Given the description of an element on the screen output the (x, y) to click on. 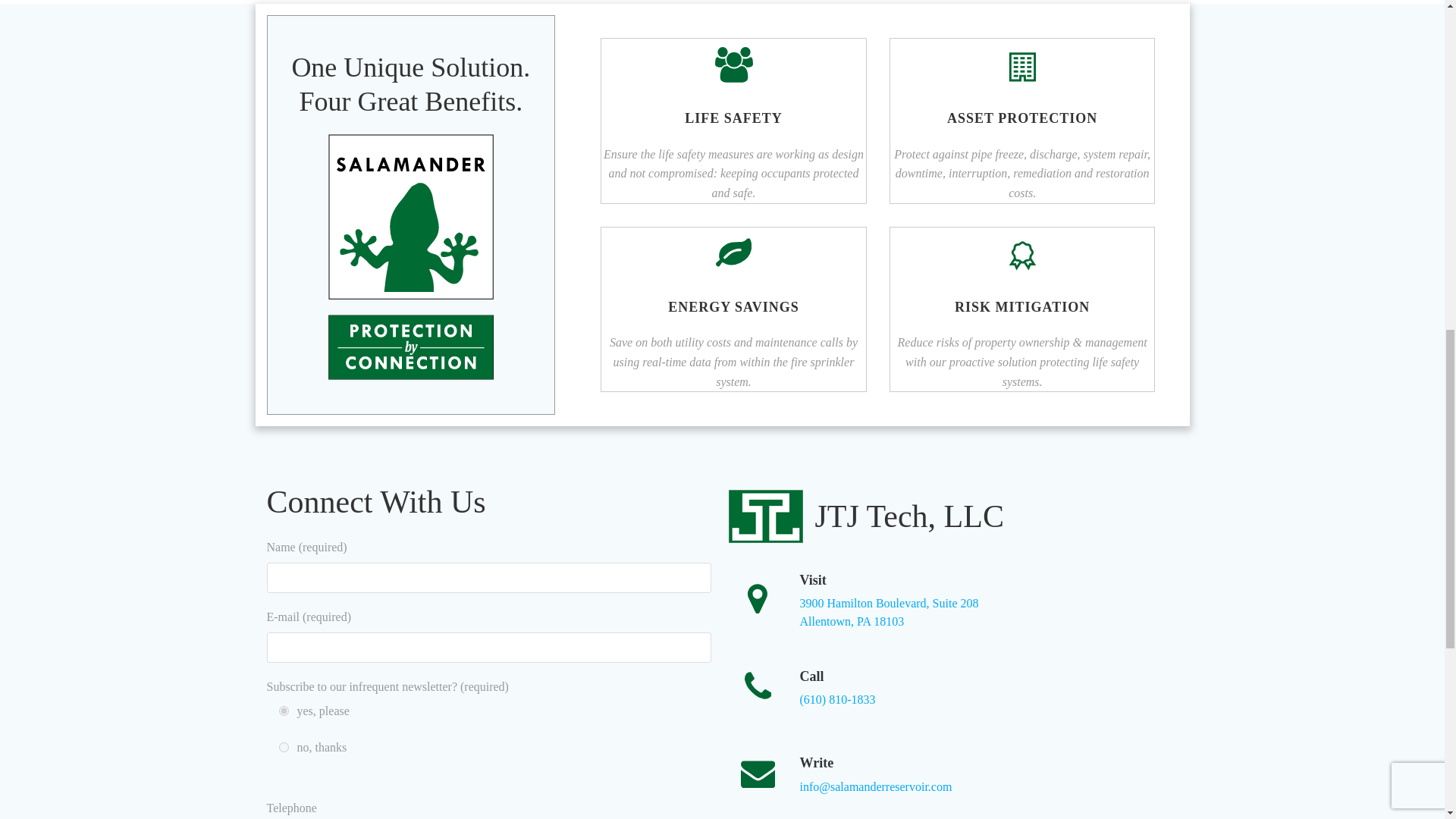
yes, please (888, 612)
no, thanks (283, 710)
